Given the description of an element on the screen output the (x, y) to click on. 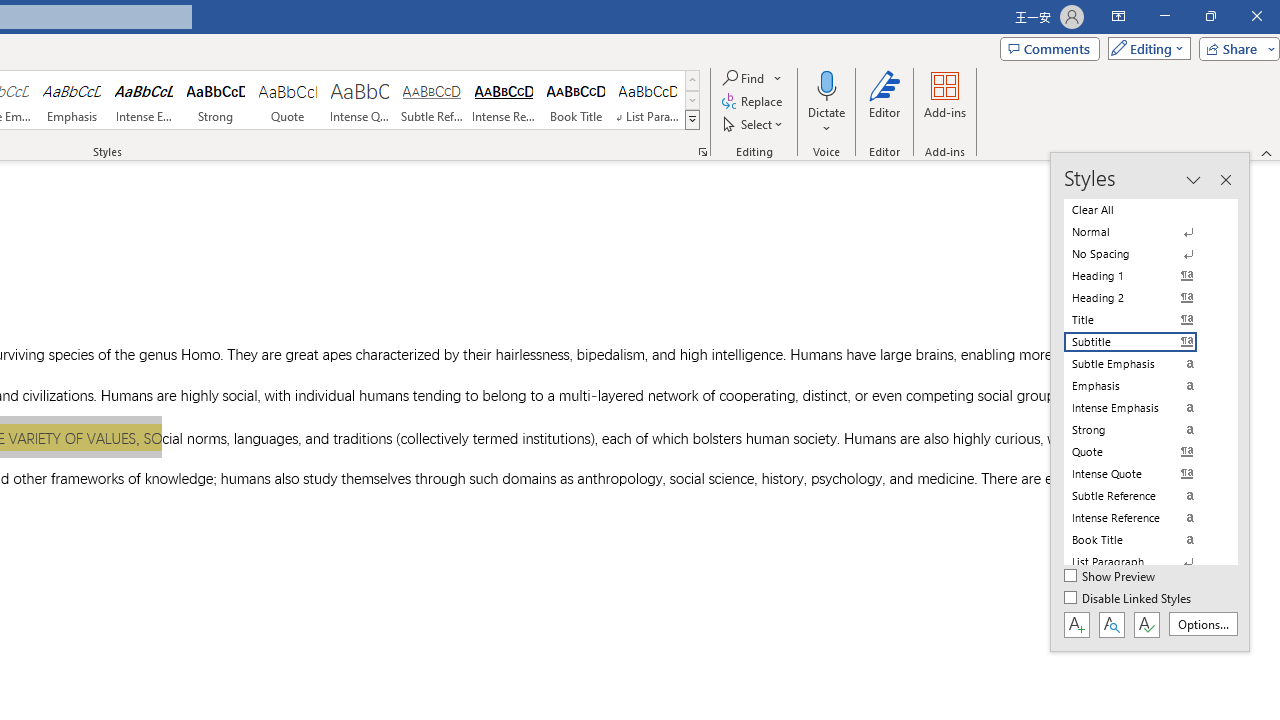
Options... (1202, 623)
Editing (1144, 47)
